Given the description of an element on the screen output the (x, y) to click on. 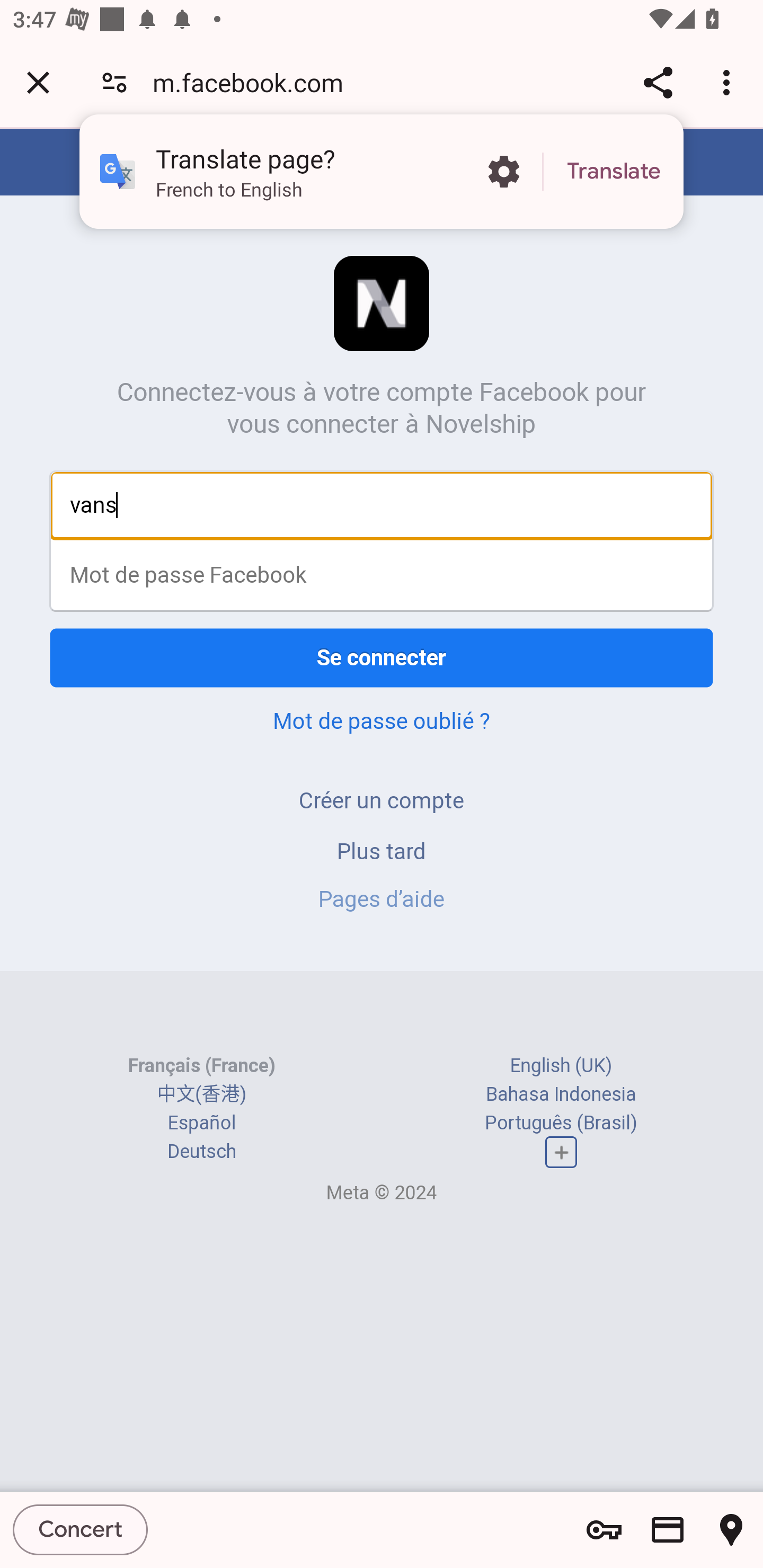
Close tab (38, 82)
Share (657, 82)
Customize and control Google Chrome (729, 82)
Connection is secure (114, 81)
m.facebook.com (254, 81)
Translate (613, 171)
More options in the Translate page? (503, 171)
vans (381, 505)
Se connecter (381, 657)
Mot de passe oublié ? (381, 720)
Créer un compte (381, 800)
Plus tard (381, 850)
Pages d’aide (381, 898)
English (UK) (560, 1065)
中文(香港) (201, 1093)
Bahasa Indonesia (560, 1093)
Español (201, 1122)
Português (Brasil) (560, 1122)
Liste complète des langues (560, 1152)
Deutsch (201, 1151)
Concert (80, 1529)
Show saved passwords and password options (603, 1530)
Show saved payment methods (667, 1530)
Show saved addresses (731, 1530)
